Given the description of an element on the screen output the (x, y) to click on. 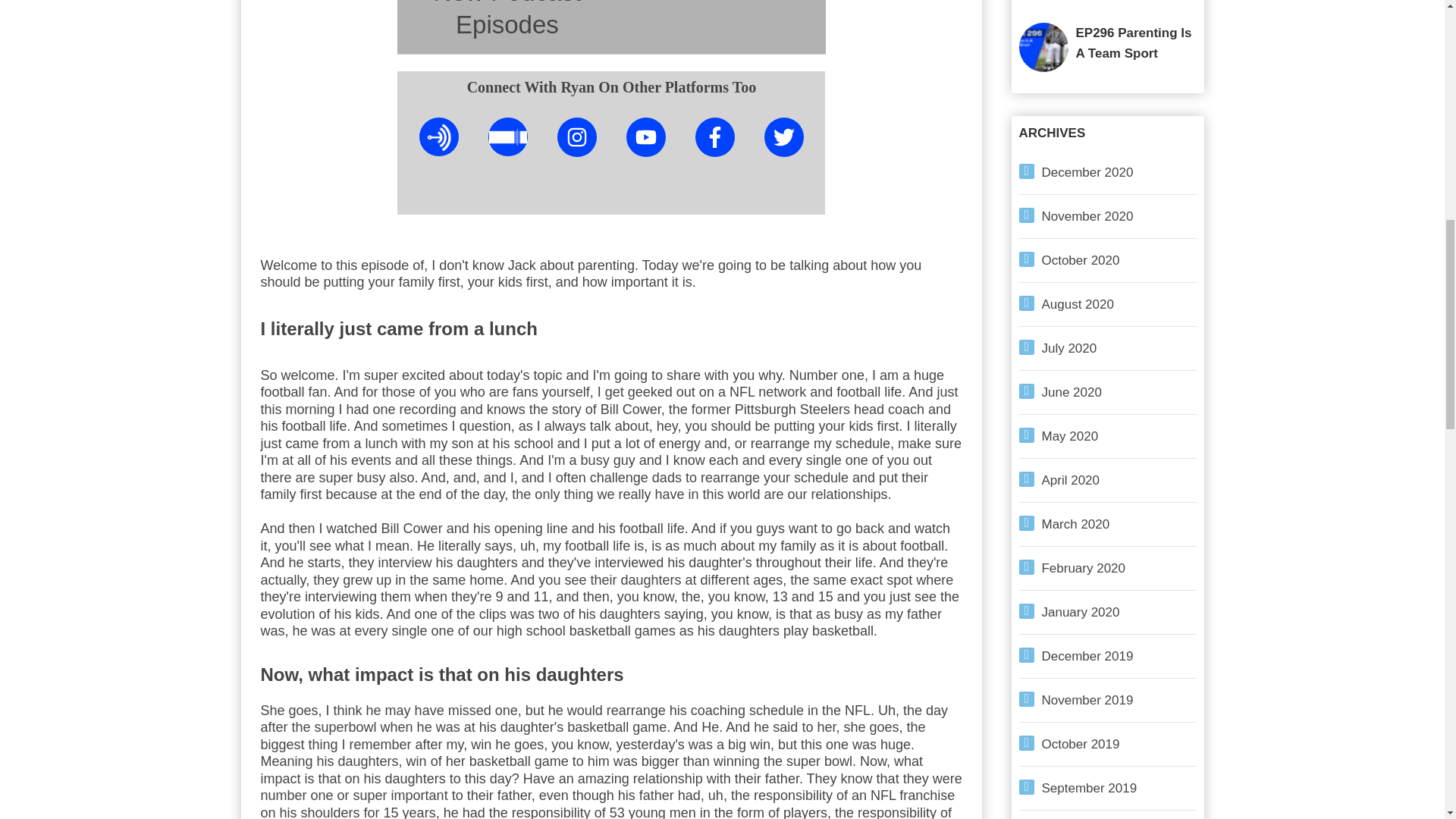
May 2020 (1070, 436)
June 2020 (1072, 391)
December 2020 (1088, 172)
July 2020 (1069, 348)
November 2020 (1088, 216)
April 2020 (1070, 480)
Anchor (439, 136)
August 2020 (1077, 304)
February 2020 (1083, 568)
March 2020 (1075, 523)
December 2019 (1088, 656)
EP296 Parenting Is A Team Sport (1133, 42)
October 2020 (1080, 260)
Stitcher (508, 136)
January 2020 (1080, 612)
